Given the description of an element on the screen output the (x, y) to click on. 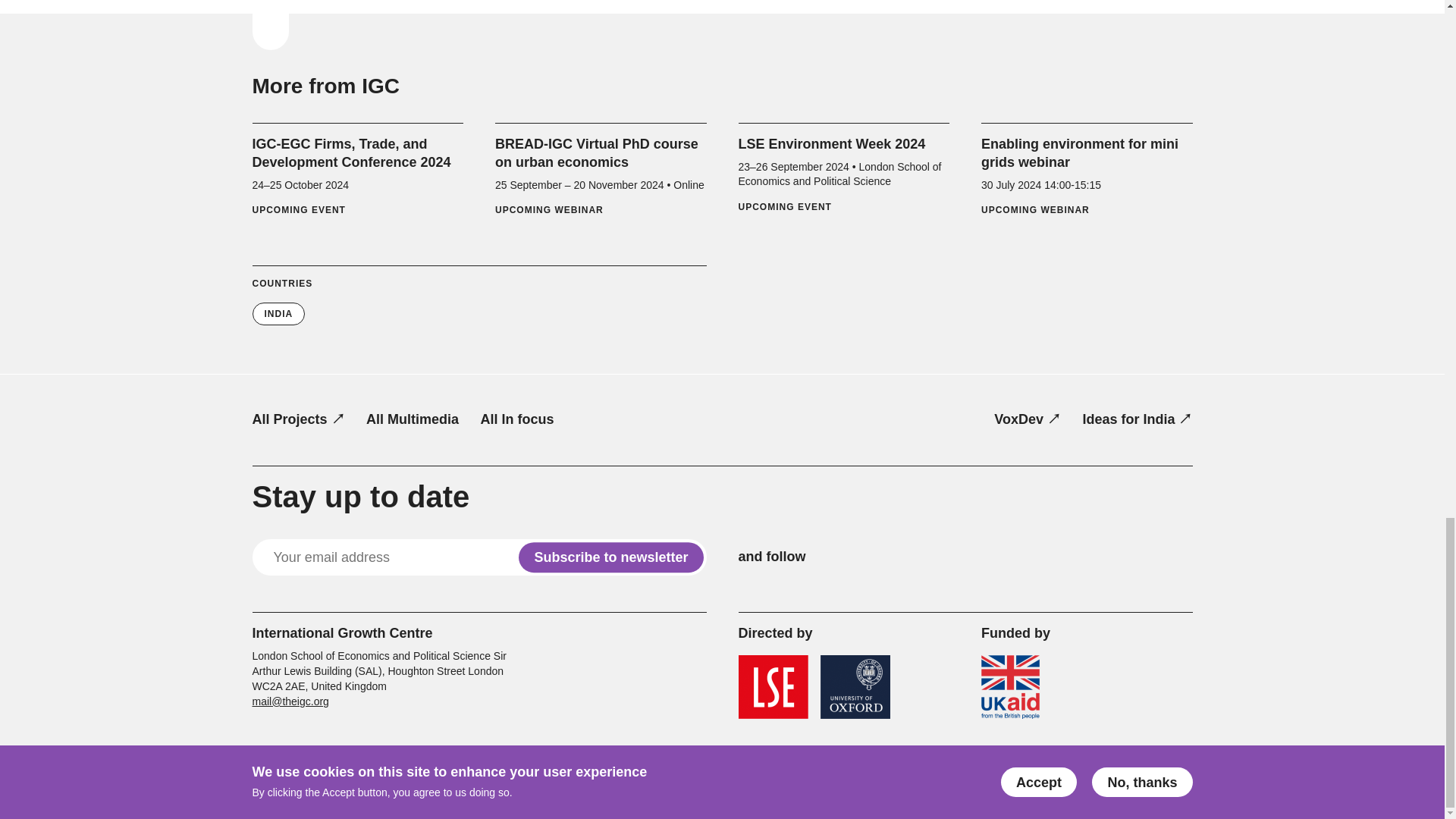
LSE Environment Week 2024 (844, 174)
Affiliate logo (1010, 687)
Affiliate logo (855, 687)
Twitter (836, 557)
Enabling environment for mini grids webinar (1086, 176)
BREAD-IGC Virtual PhD course on urban economics (600, 176)
Youtube (946, 557)
IGC-EGC Firms, Trade, and Development Conference 2024 (357, 176)
Facebook (873, 556)
Linkedin (909, 556)
Affiliate logo (773, 687)
